Given the description of an element on the screen output the (x, y) to click on. 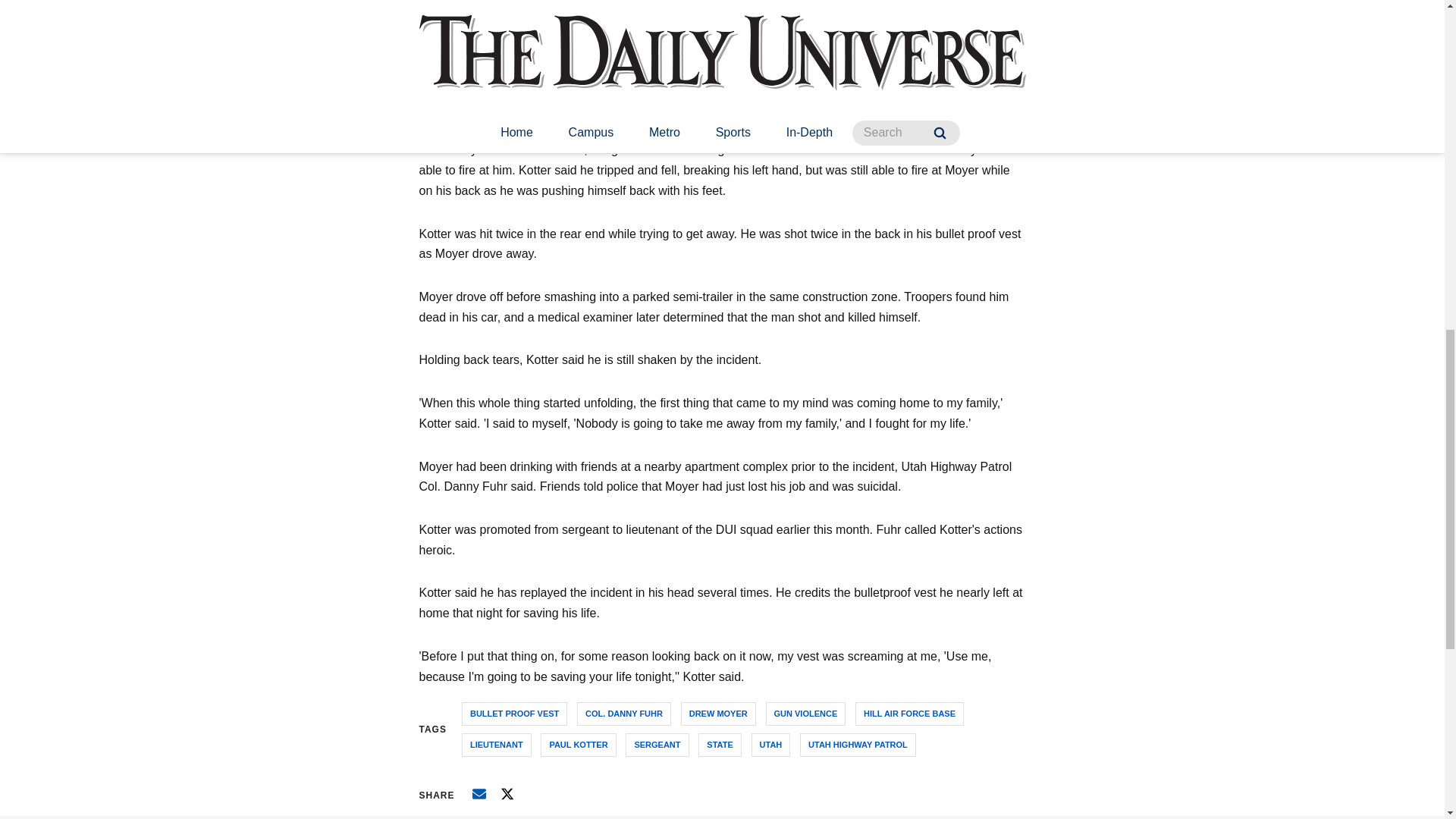
Email (478, 793)
COL. DANNY FUHR (623, 713)
GUN VIOLENCE (805, 713)
UTAH HIGHWAY PATROL (857, 744)
DREW MOYER (718, 713)
BULLET PROOF VEST (514, 713)
HILL AIR FORCE BASE (909, 713)
UTAH (770, 744)
LIEUTENANT (496, 744)
STATE (719, 744)
